Given the description of an element on the screen output the (x, y) to click on. 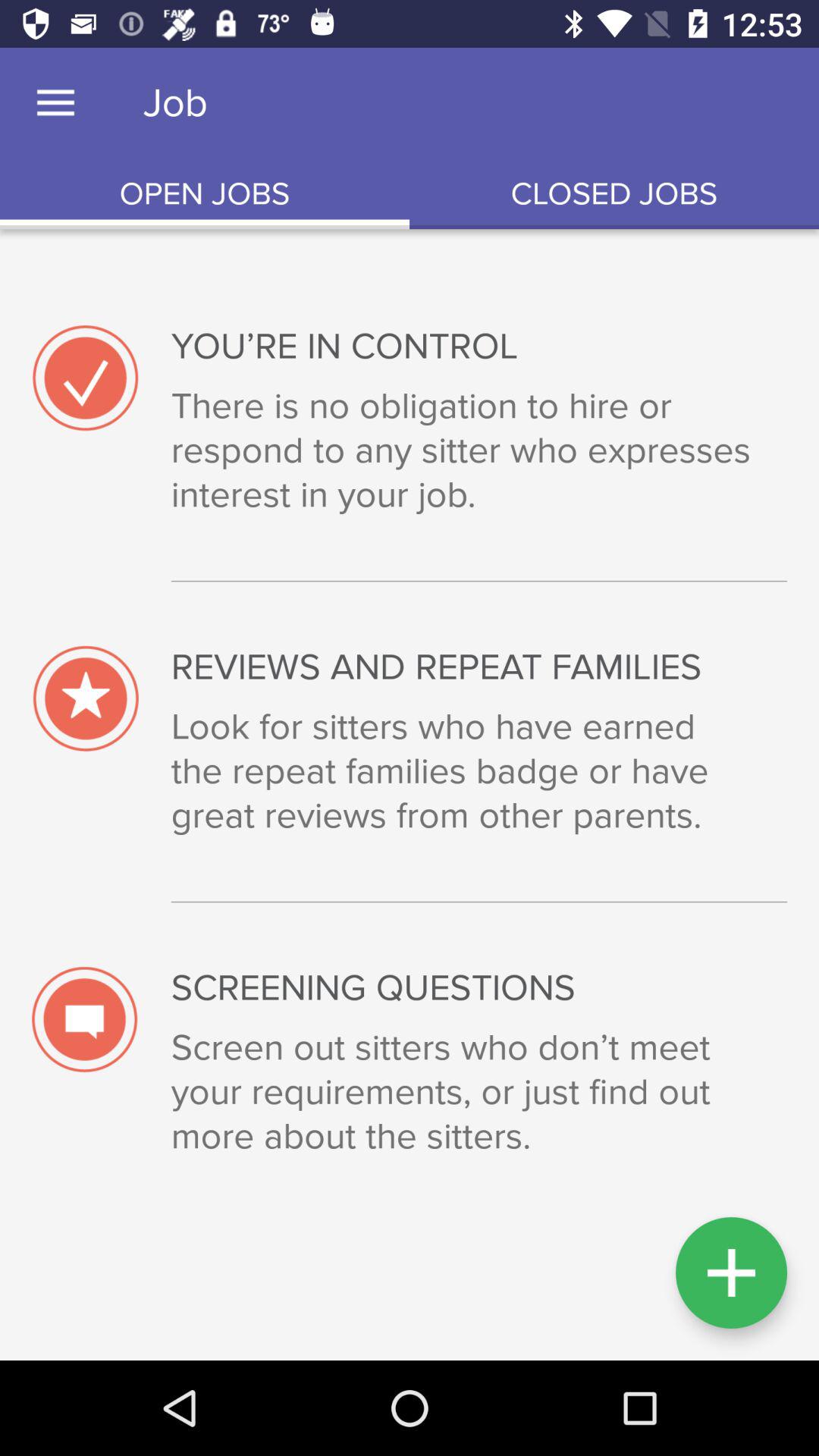
select item next to job (55, 103)
